Given the description of an element on the screen output the (x, y) to click on. 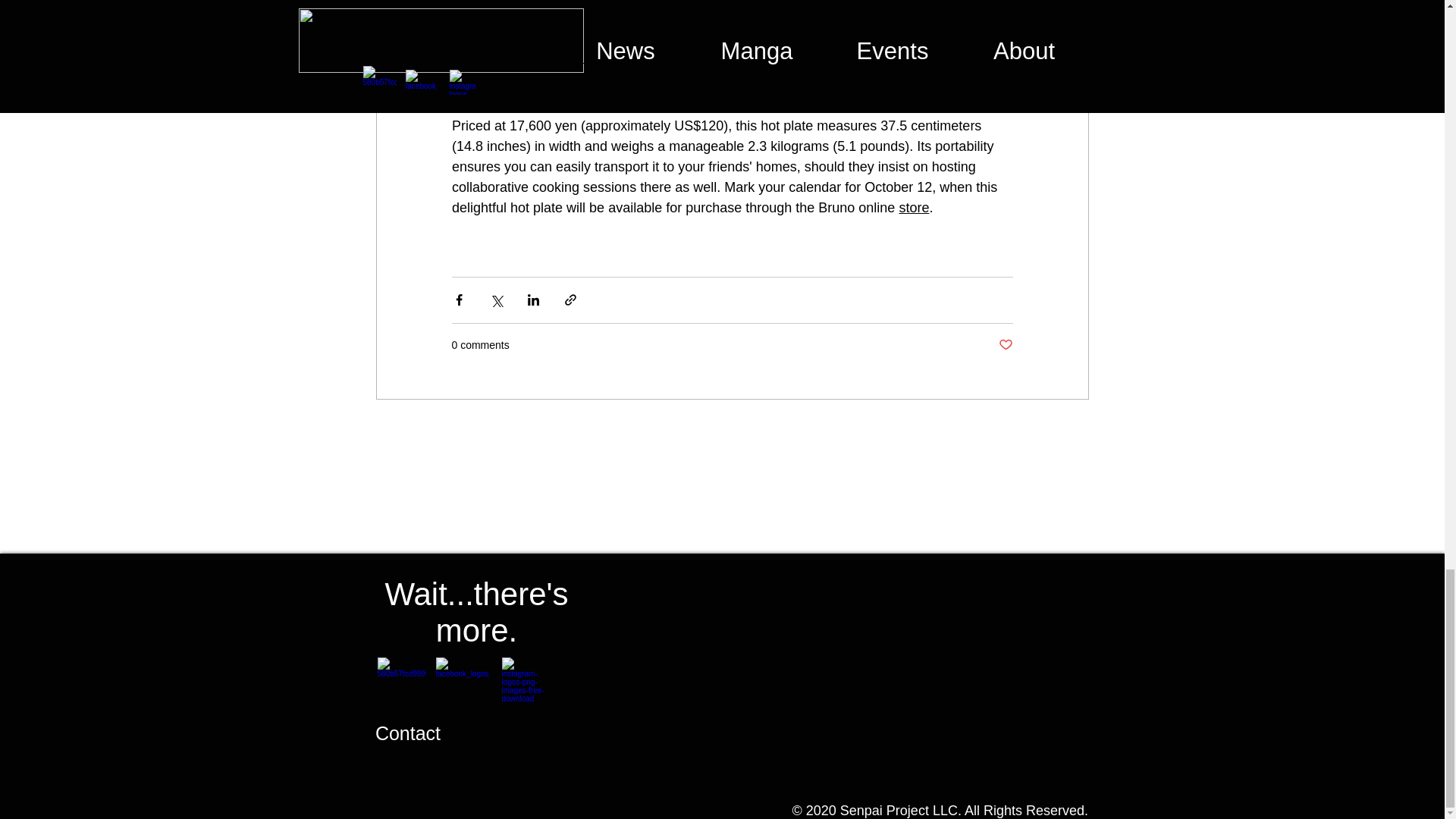
store (913, 207)
Contact (408, 733)
Post not marked as liked (1004, 344)
